Given the description of an element on the screen output the (x, y) to click on. 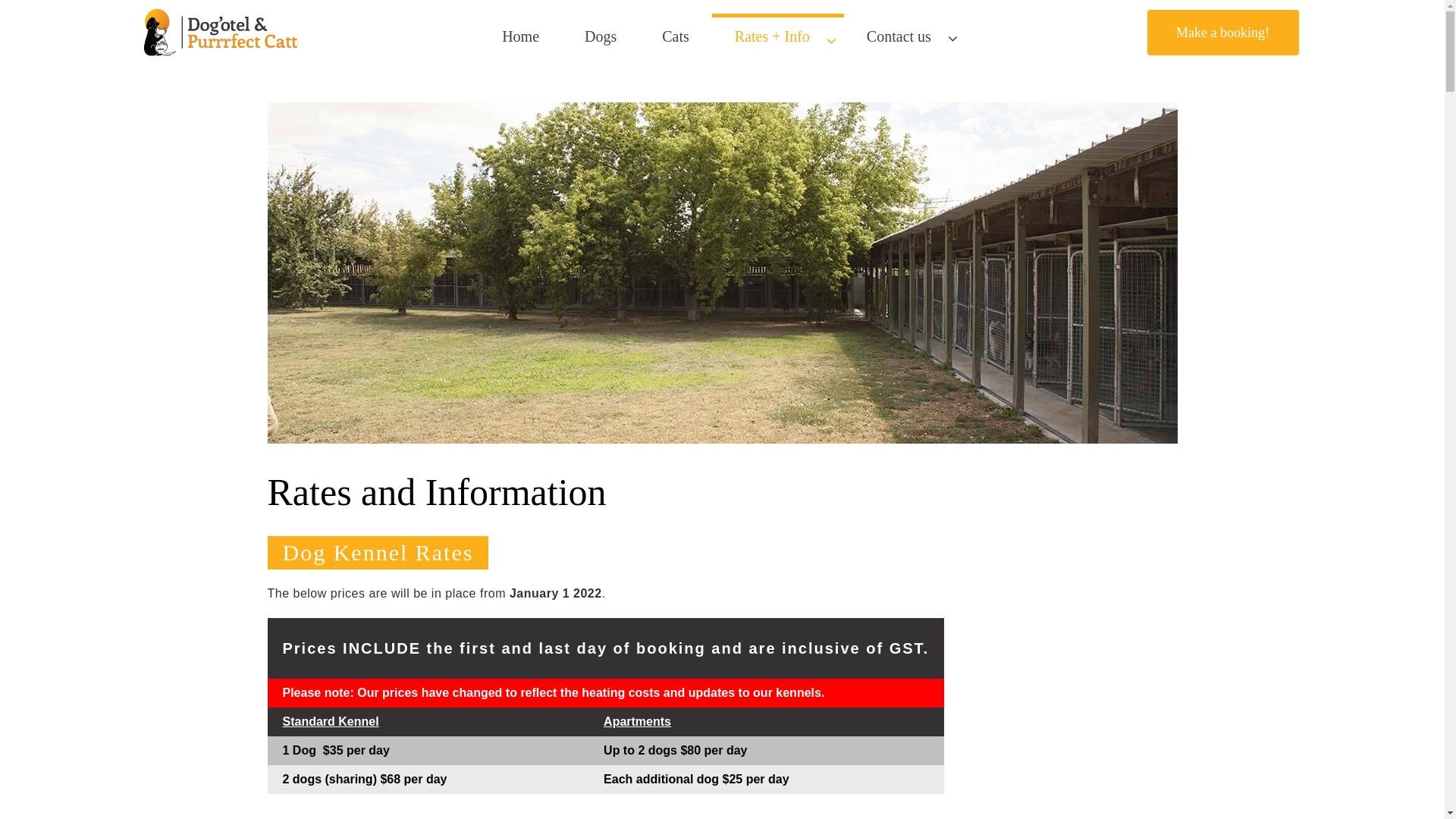
Cats Element type: text (675, 35)
Dogs Element type: text (600, 35)
Make a booking! Element type: text (1222, 32)
Contact us Element type: text (904, 35)
Home Element type: text (520, 35)
Rates + Info Element type: text (778, 35)
